Given the description of an element on the screen output the (x, y) to click on. 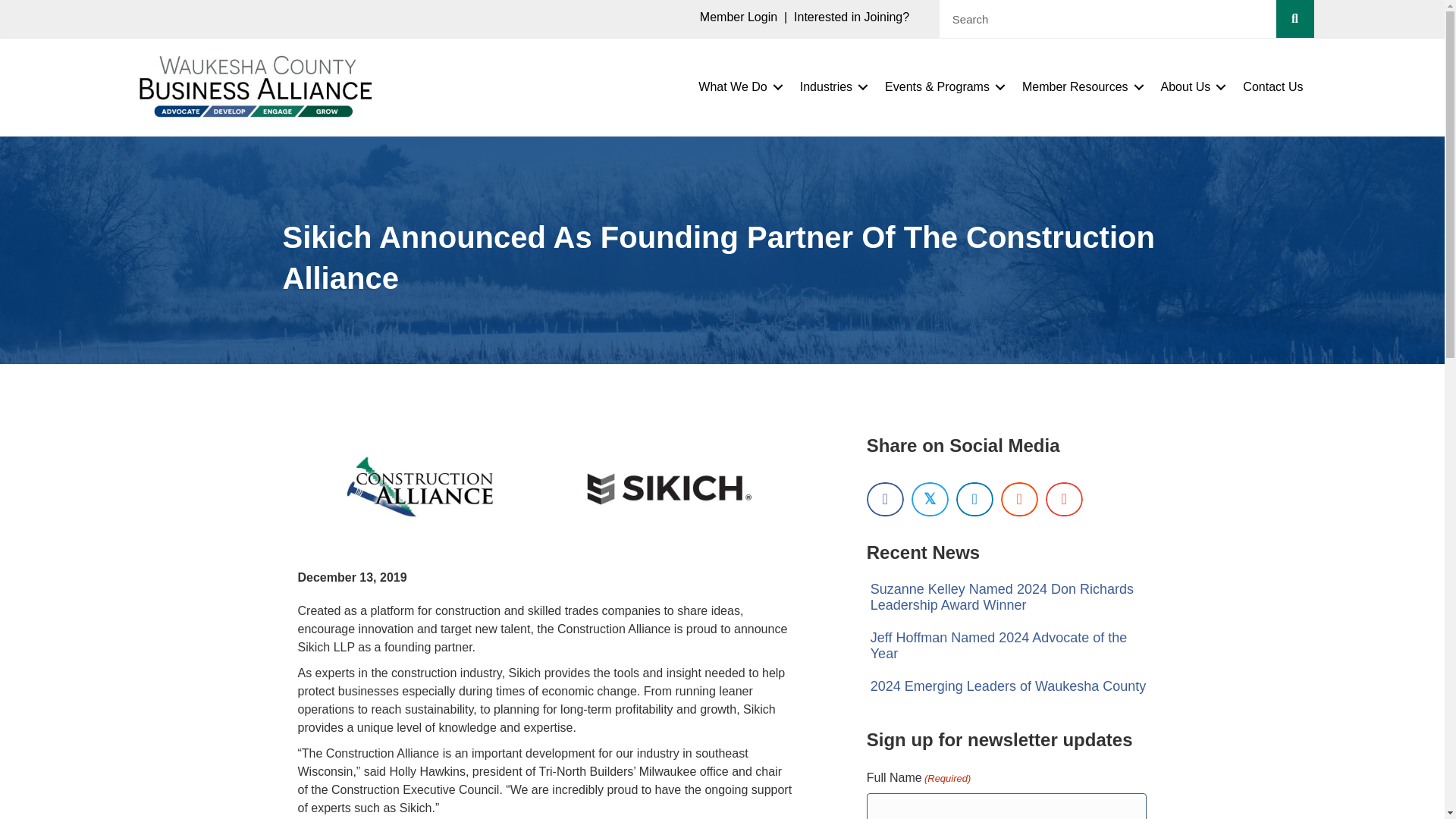
Member Login (738, 16)
What We Do (737, 87)
WCBA-High-Res (251, 85)
Member Resources (1080, 87)
Search (1107, 18)
About Us (1190, 87)
Construction-Alliance-and-Sikich (545, 489)
2024 Emerging Leaders of Waukesha County (1008, 685)
Industries (831, 87)
Interested in Joining? (850, 16)
Jeff Hoffman Named 2024 Advocate of the Year (998, 645)
